Given the description of an element on the screen output the (x, y) to click on. 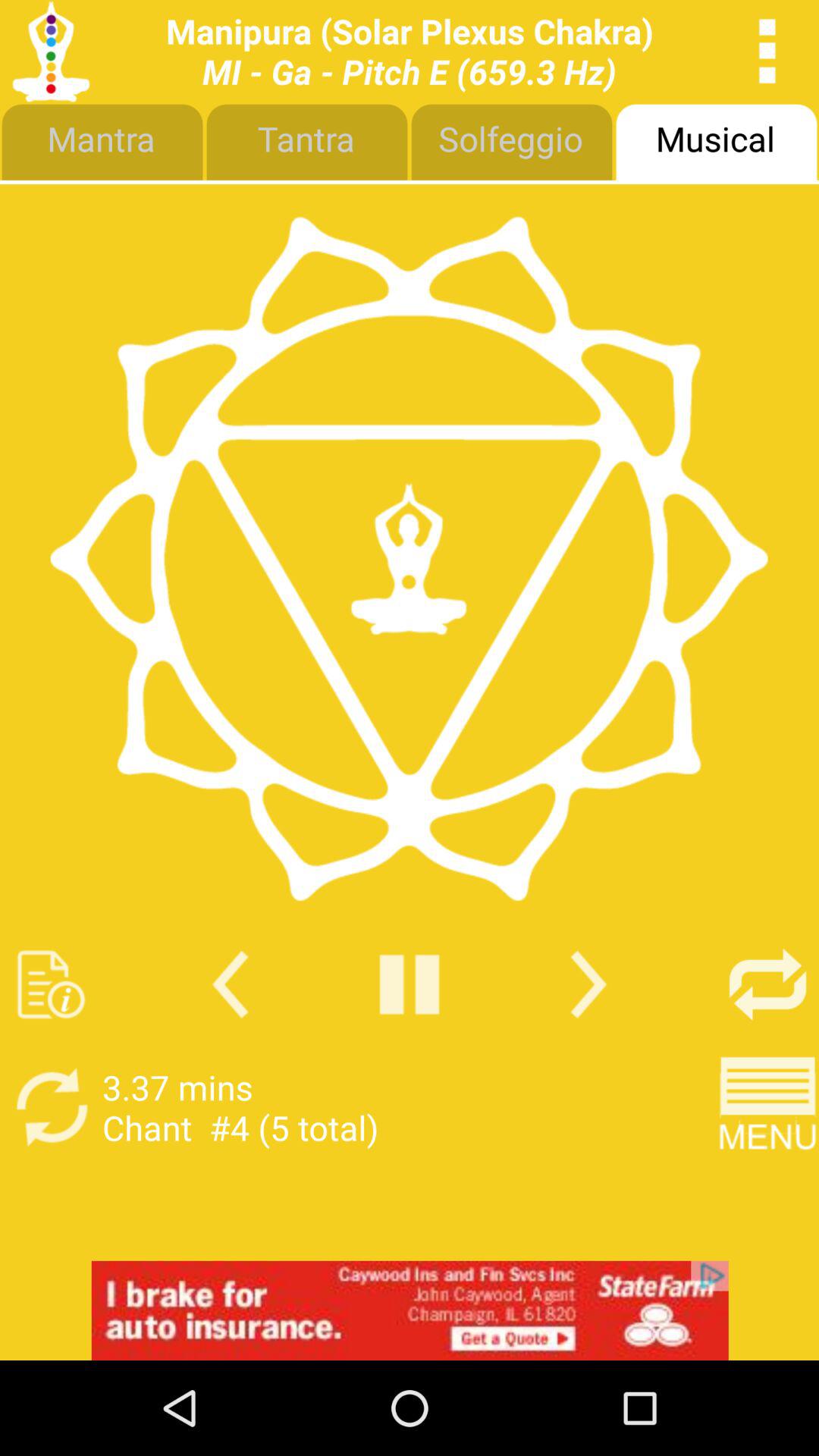
menu (767, 1107)
